Given the description of an element on the screen output the (x, y) to click on. 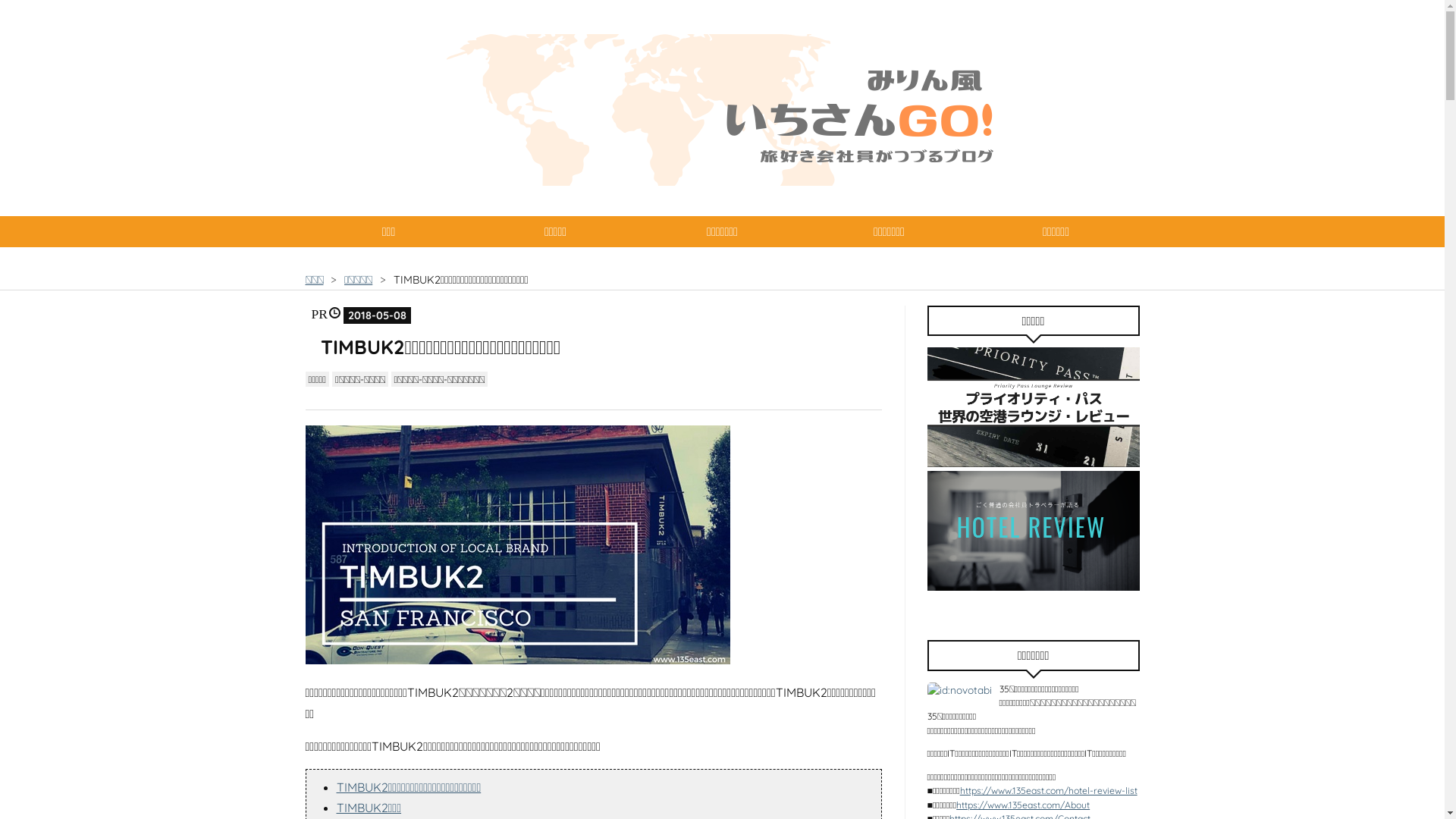
https://www.135east.com/About Element type: text (1022, 804)
f:id:novotabi:20180507052029j:plain Element type: hover (516, 544)
https://www.135east.com/hotel-review-list Element type: text (1048, 790)
2018-05-08 Element type: text (377, 315)
